Given the description of an element on the screen output the (x, y) to click on. 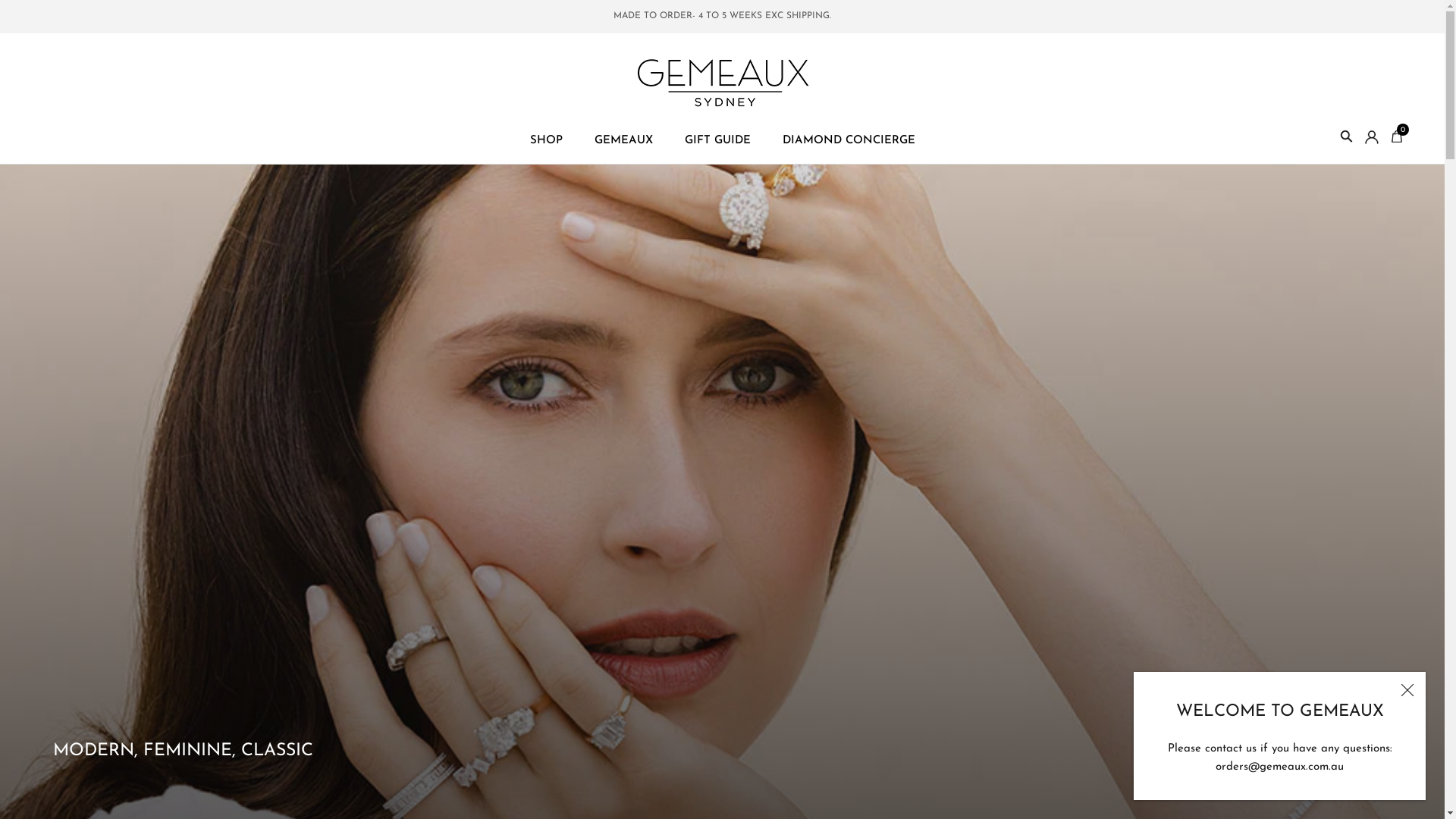
DIAMOND CONCIERGE
DIAMOND CONCIERGE Element type: text (848, 140)
SHOP
SHOP Element type: text (545, 140)
GEMEAUX
GEMEAUX Element type: text (623, 140)
GIFT GUIDE
GIFT GUIDE Element type: text (716, 140)
